Given the description of an element on the screen output the (x, y) to click on. 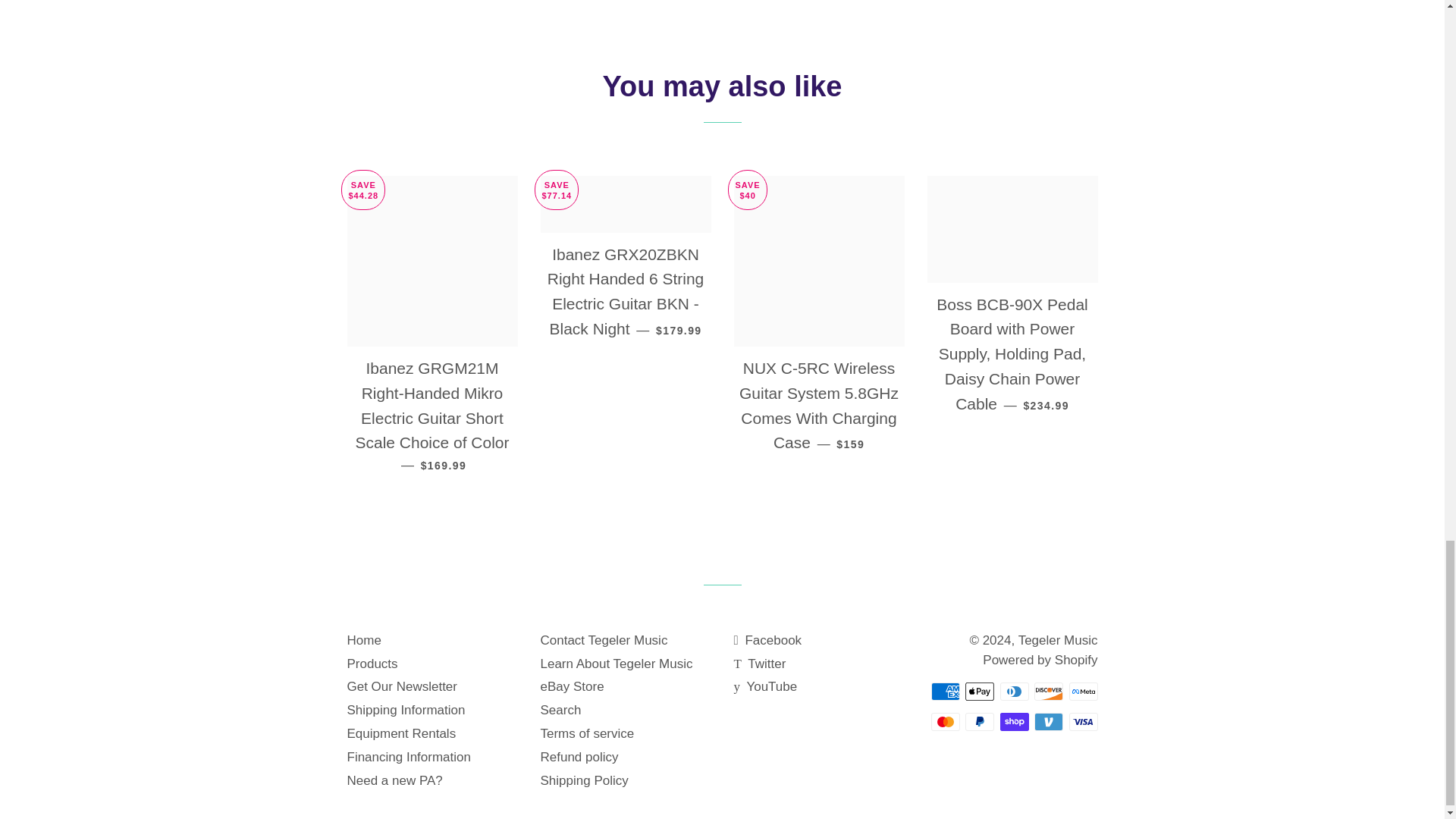
Shop Pay (1012, 721)
Tegeler Music on Facebook (767, 640)
Visa (1082, 721)
Diners Club (1012, 691)
Discover (1047, 691)
Meta Pay (1082, 691)
Tegeler Music on Twitter (759, 663)
Tegeler Music on YouTube (765, 686)
PayPal (979, 721)
Mastercard (945, 721)
